Given the description of an element on the screen output the (x, y) to click on. 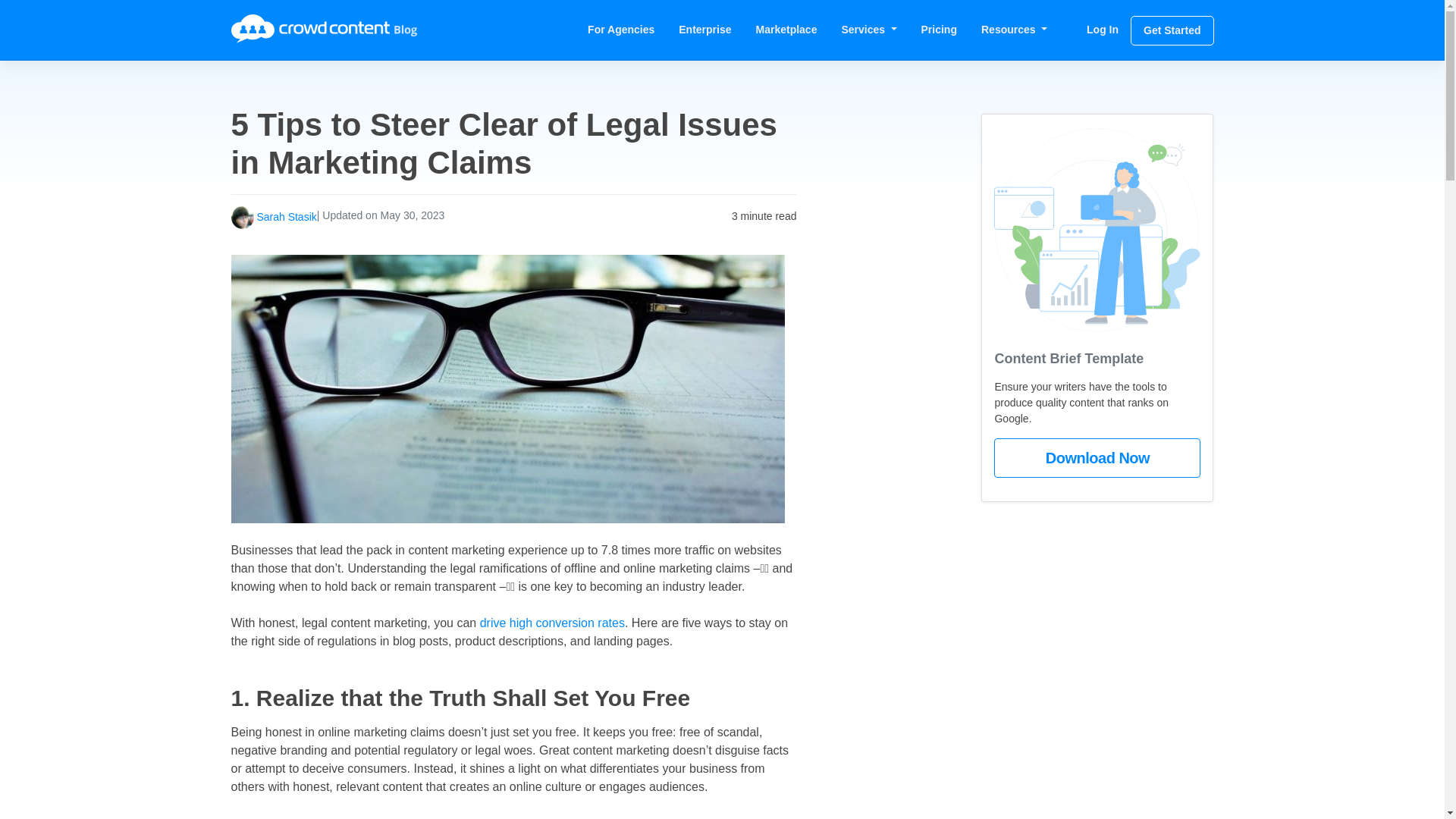
For Agencies (620, 29)
Marketplace (786, 29)
Log In (1102, 29)
Services (868, 29)
For Agencies (620, 29)
drive high conversion rates (552, 622)
Enterprise (704, 29)
Enterprise (704, 29)
Get Started (1171, 30)
Resources (1014, 29)
Marketplace (786, 29)
Sarah Stasik (285, 215)
Resources (1014, 29)
Services (868, 29)
Pricing (938, 29)
